Given the description of an element on the screen output the (x, y) to click on. 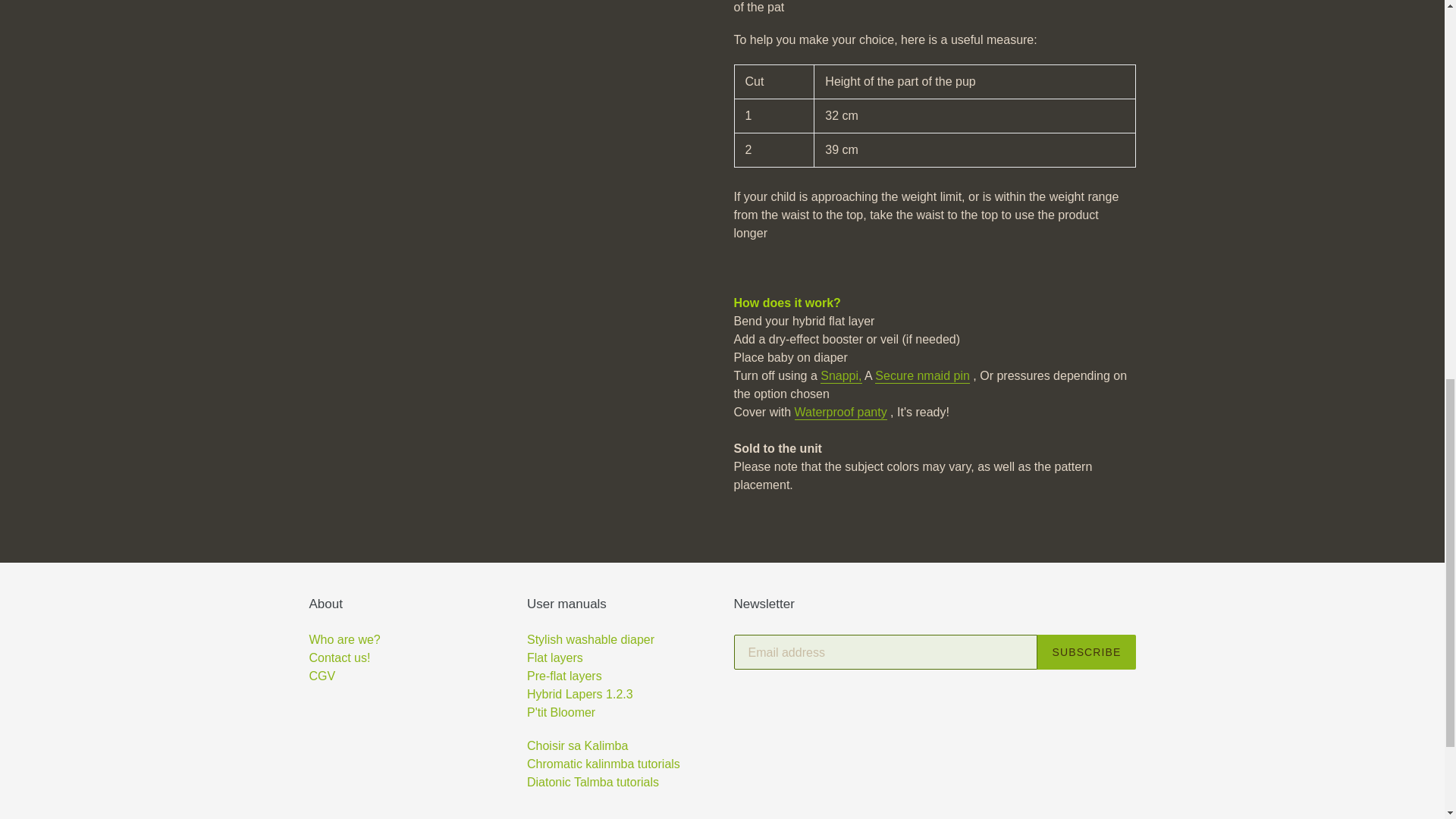
mode d'emploi p'tit bloomer (561, 712)
Snappi (841, 376)
TUTORIELS : la kalimba chromatique (603, 763)
Mode d'emploi Couches plates (555, 657)
TUTORIELS : la kalimba diatonique (593, 781)
Qui sommes nous? (344, 639)
AIDE AU CHOIX D'UNE KALIMBA (577, 745)
Mode d'emploi Stylish (590, 639)
Contactez nous! (339, 657)
CGV (339, 685)
Mode d'emploi " Hybride1.2.3!" (580, 694)
